Given the description of an element on the screen output the (x, y) to click on. 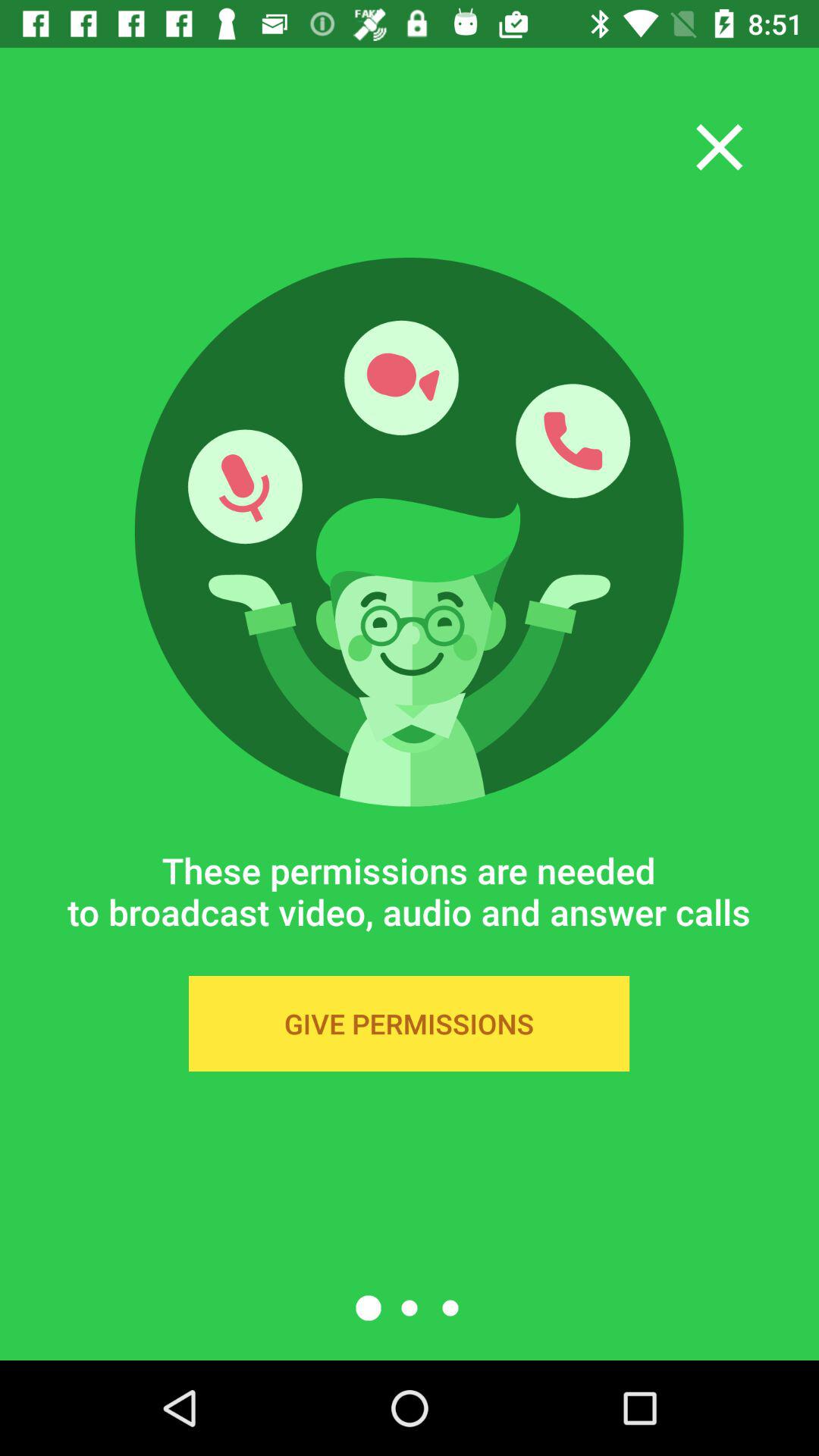
go to close (719, 147)
